Given the description of an element on the screen output the (x, y) to click on. 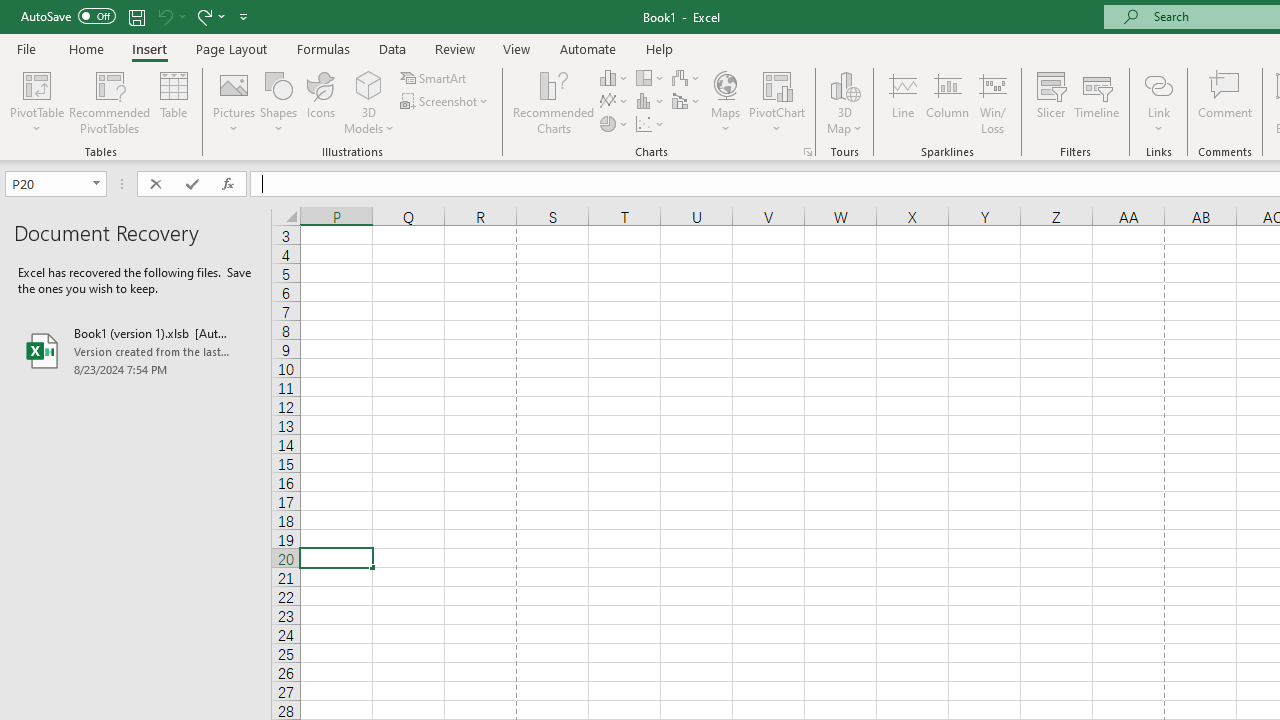
Insert Column or Bar Chart (614, 78)
PivotTable (36, 102)
PivotChart (777, 84)
Maps (726, 102)
Insert Statistic Chart (651, 101)
Insert Line or Area Chart (614, 101)
